Given the description of an element on the screen output the (x, y) to click on. 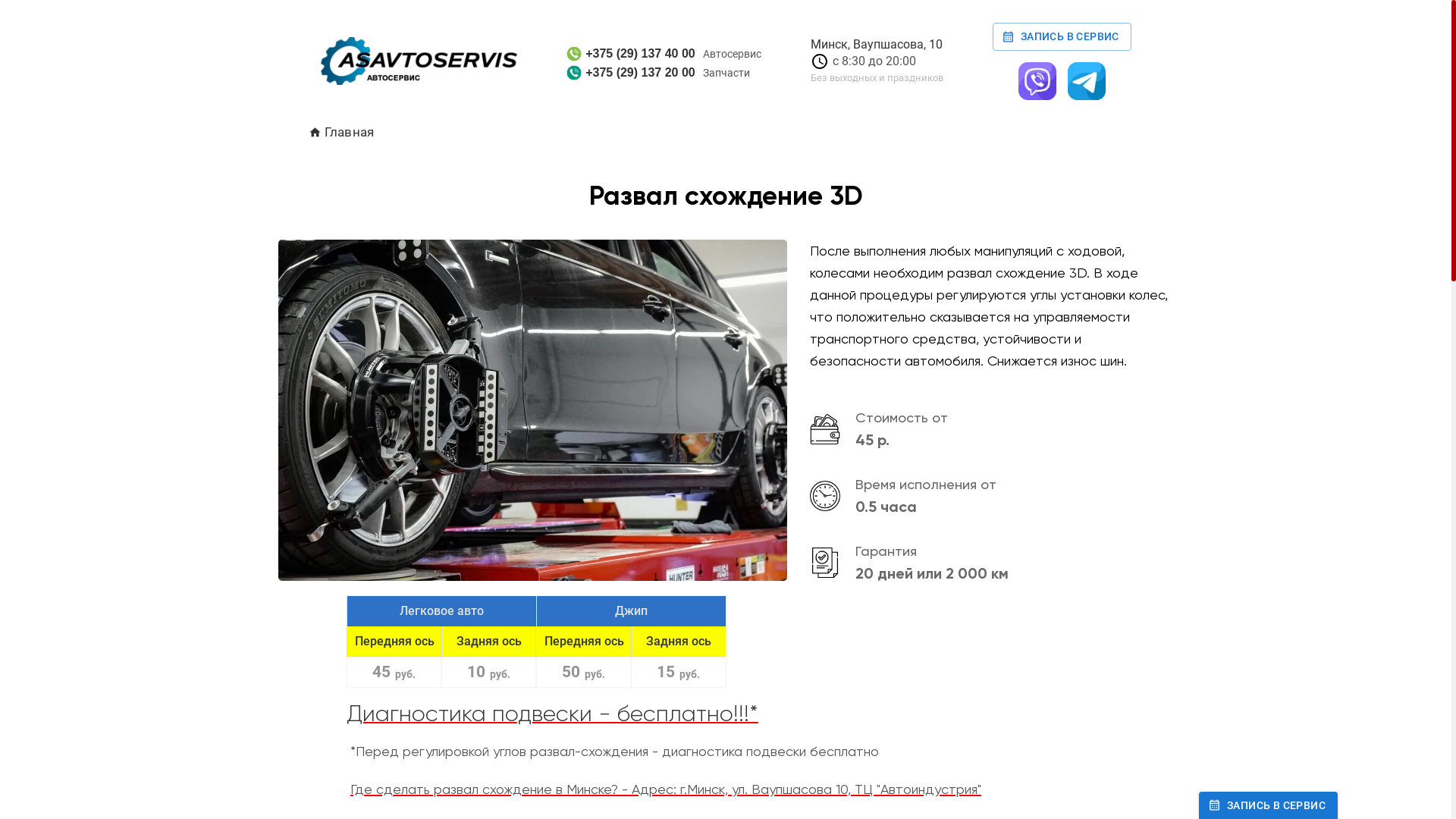
+375 (29) 137 40 00 Element type: text (630, 53)
+375 (29) 137 20 00 Element type: text (630, 72)
